Given the description of an element on the screen output the (x, y) to click on. 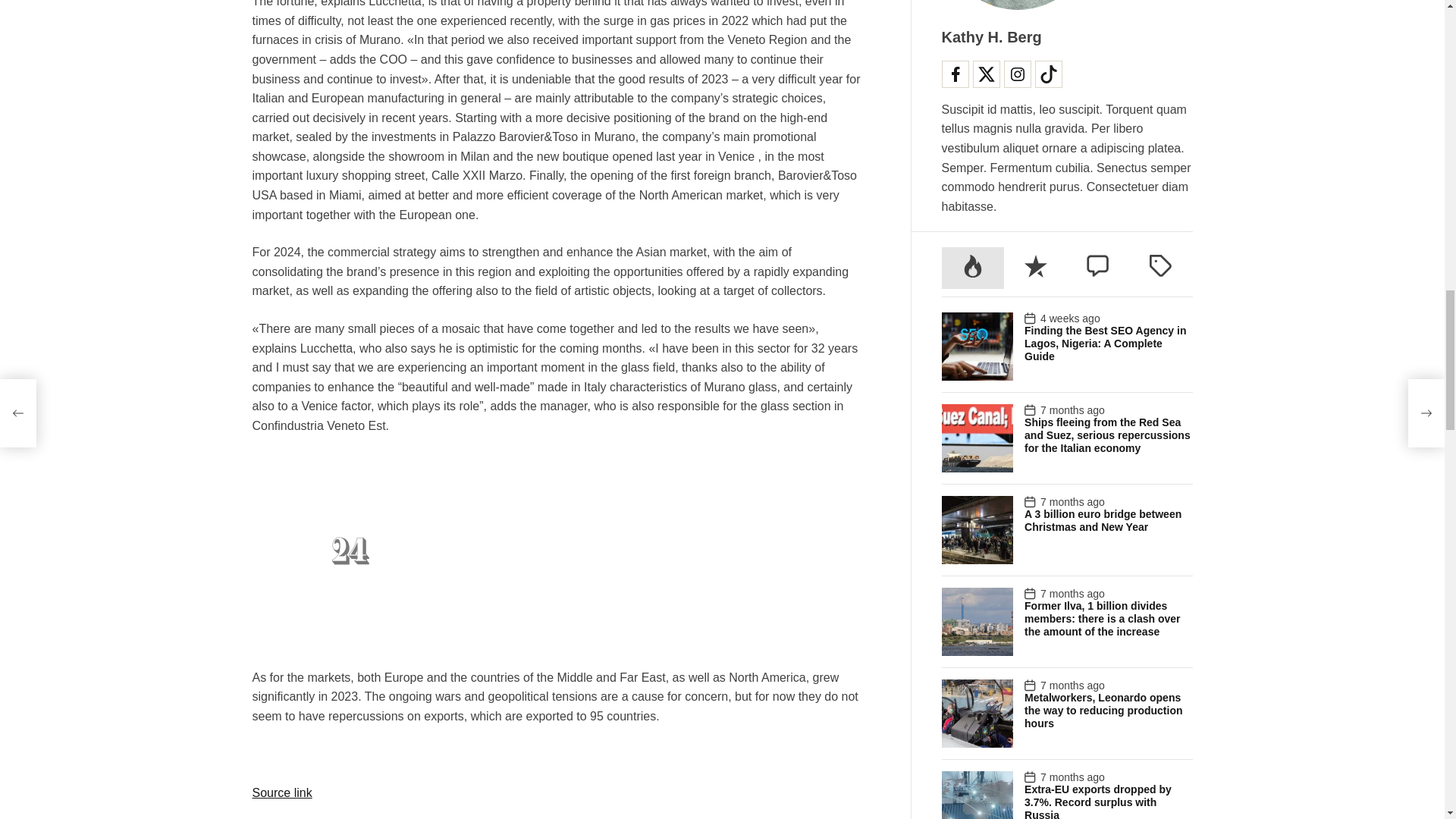
admin (609, 392)
admin (325, 381)
